Given the description of an element on the screen output the (x, y) to click on. 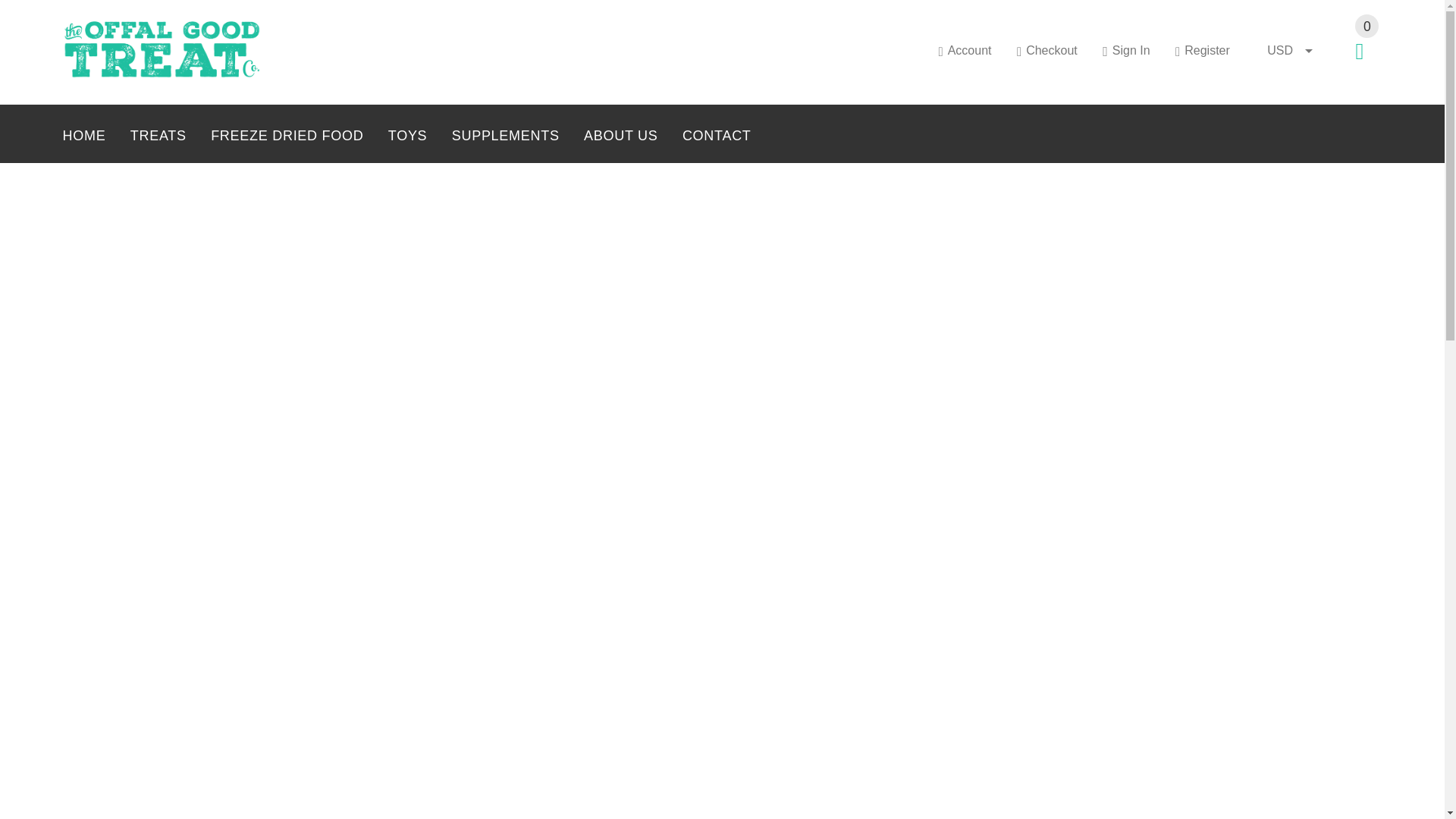
USD (1289, 50)
FREEZE DRIED FOOD (286, 137)
CONTACT (710, 137)
0 (1365, 54)
Sign In (1126, 50)
SUPPLEMENTS (505, 137)
Account (964, 50)
TOYS (407, 137)
Register (1202, 50)
Checkout (1046, 50)
